Given the description of an element on the screen output the (x, y) to click on. 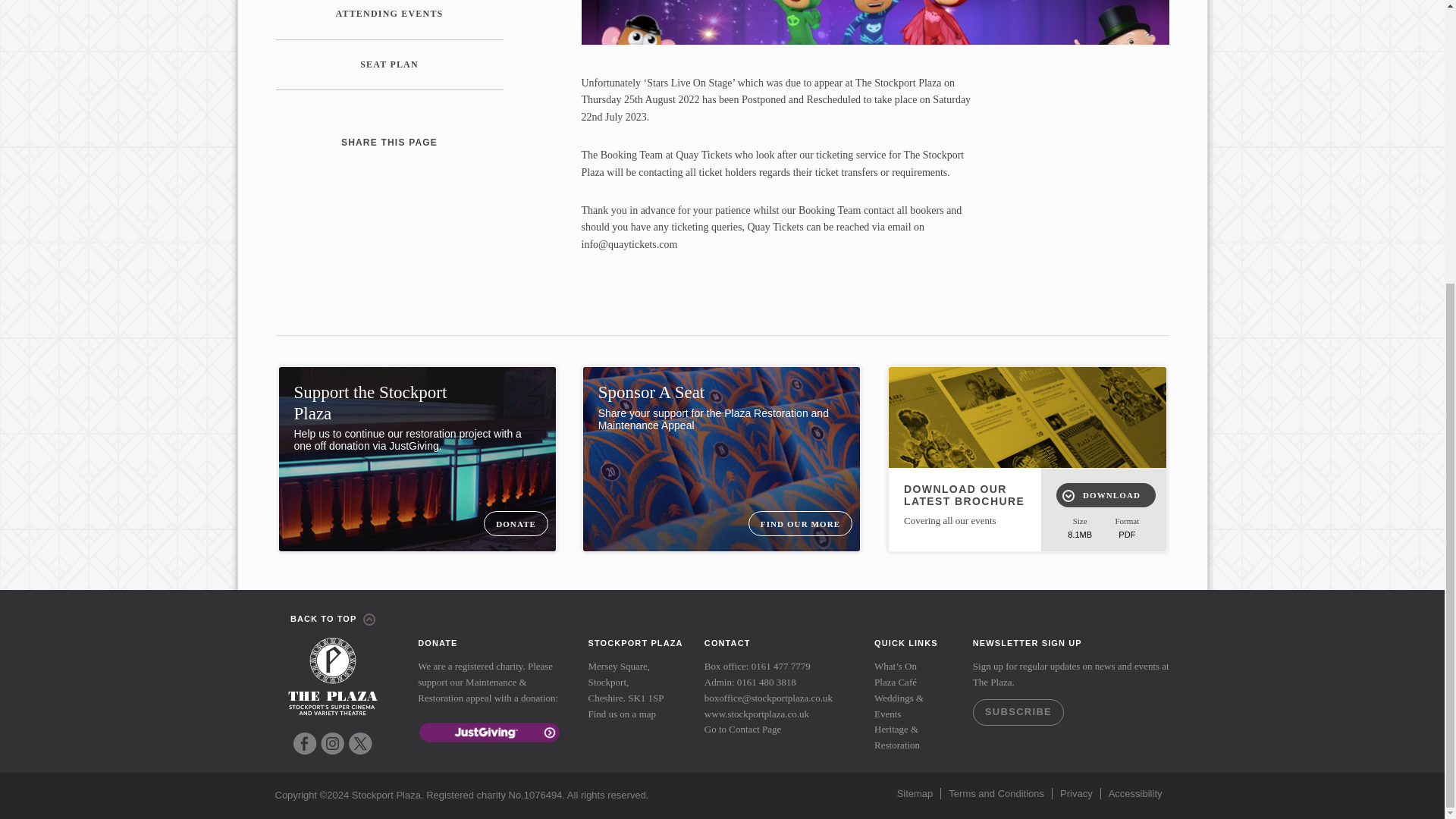
SEAT PLAN (389, 65)
DONATE (515, 523)
ATTENDING EVENTS (389, 19)
FIND OUR MORE (799, 523)
